Given the description of an element on the screen output the (x, y) to click on. 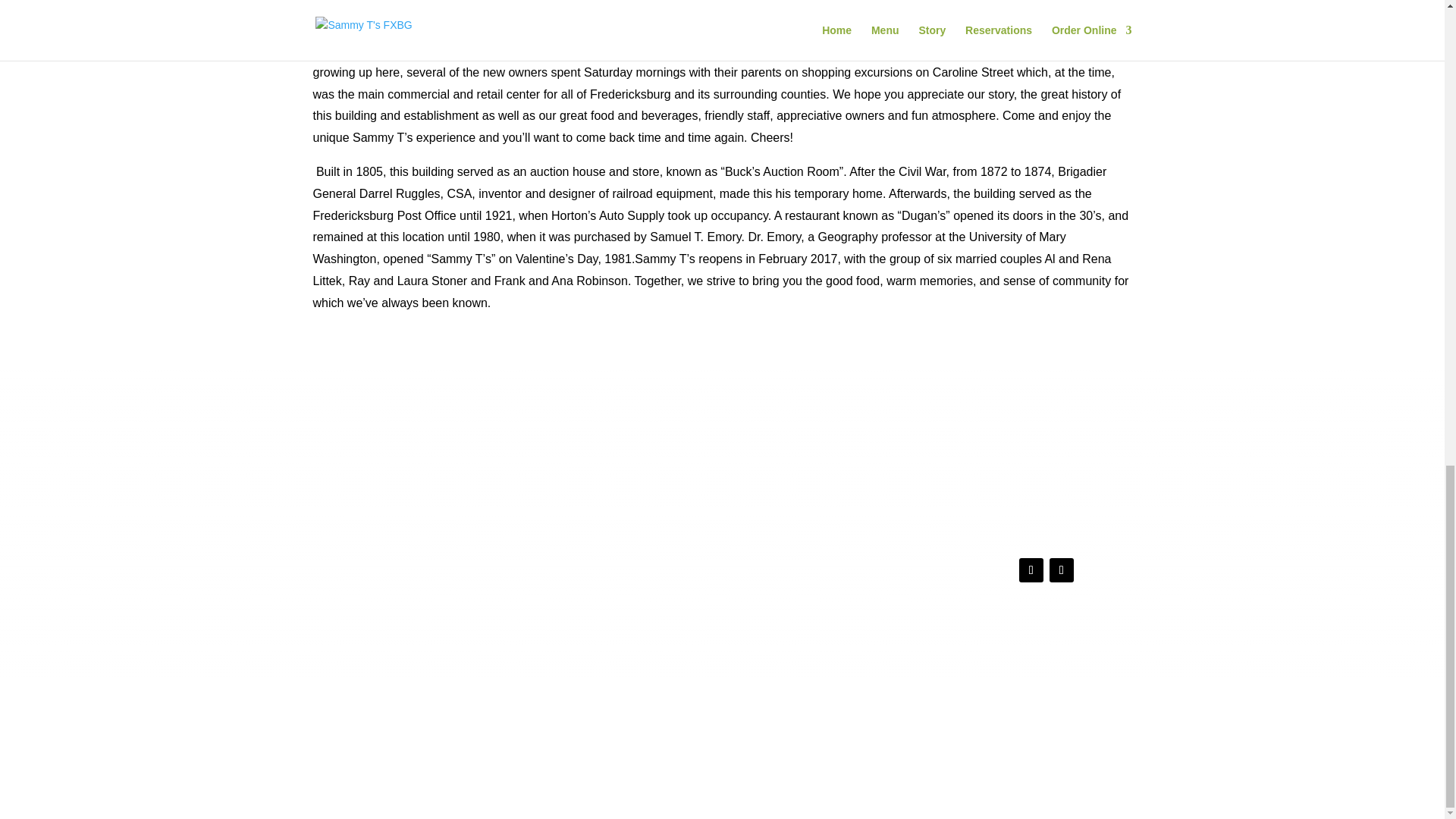
Follow on Instagram (1061, 569)
Follow on Facebook (1031, 569)
